Given the description of an element on the screen output the (x, y) to click on. 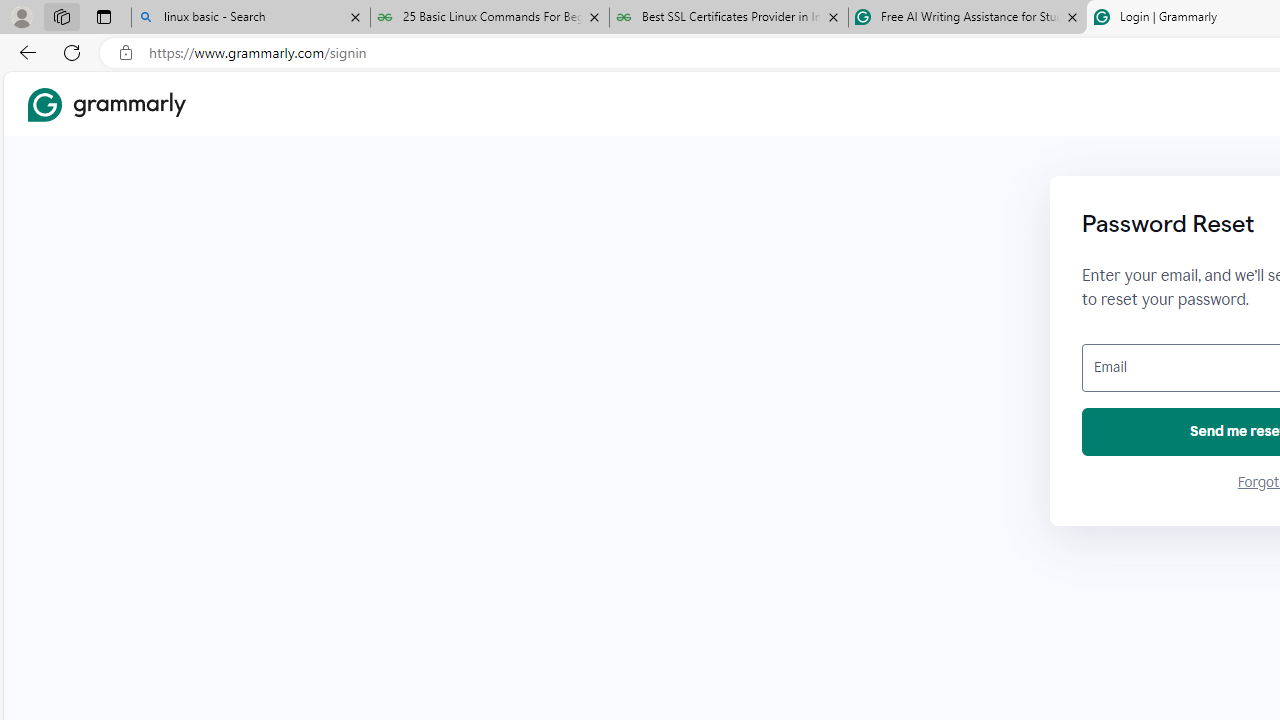
Best SSL Certificates Provider in India - GeeksforGeeks (729, 17)
Grammarly Home (106, 103)
25 Basic Linux Commands For Beginners - GeeksforGeeks (490, 17)
Grammarly Home (106, 104)
linux basic - Search (250, 17)
Free AI Writing Assistance for Students | Grammarly (967, 17)
